Given the description of an element on the screen output the (x, y) to click on. 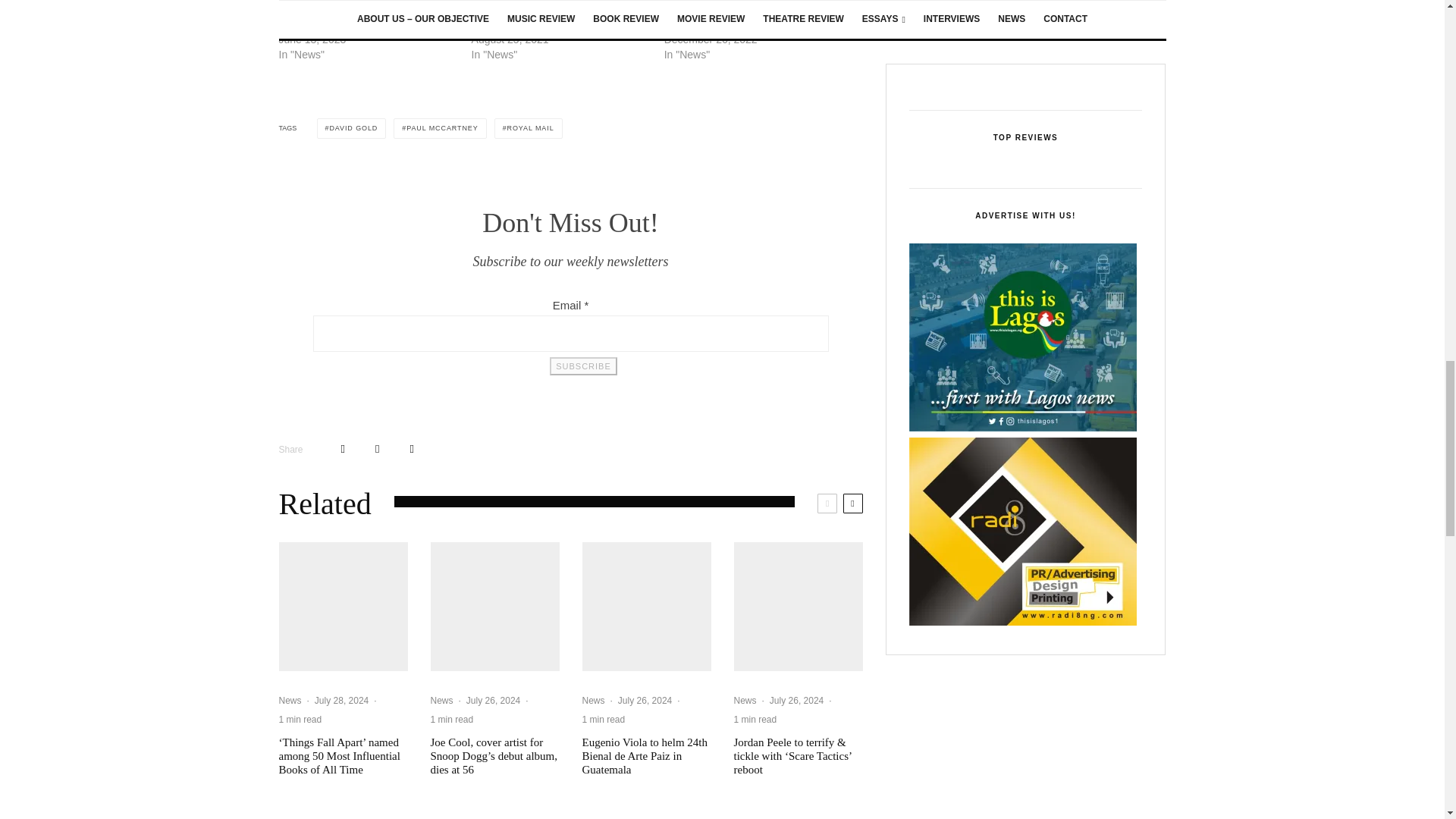
McCartney says Beatles track created with help of AI (349, 16)
Subscribe (582, 366)
Paul McCartney to reveal unseen Beatles lyrics in new book (549, 16)
